Given the description of an element on the screen output the (x, y) to click on. 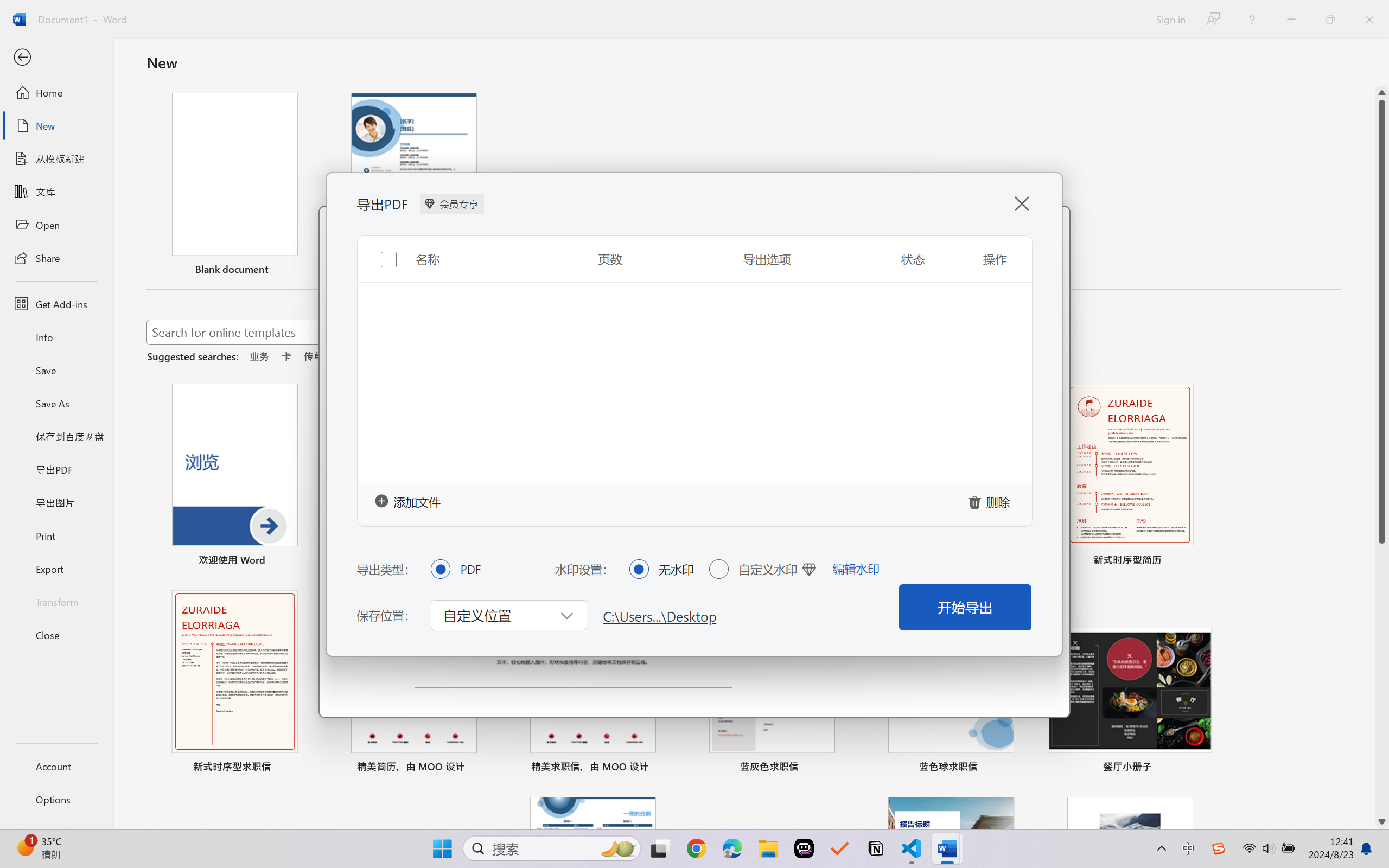
clearAllFile (990, 501)
Print (56, 535)
